Given the description of an element on the screen output the (x, y) to click on. 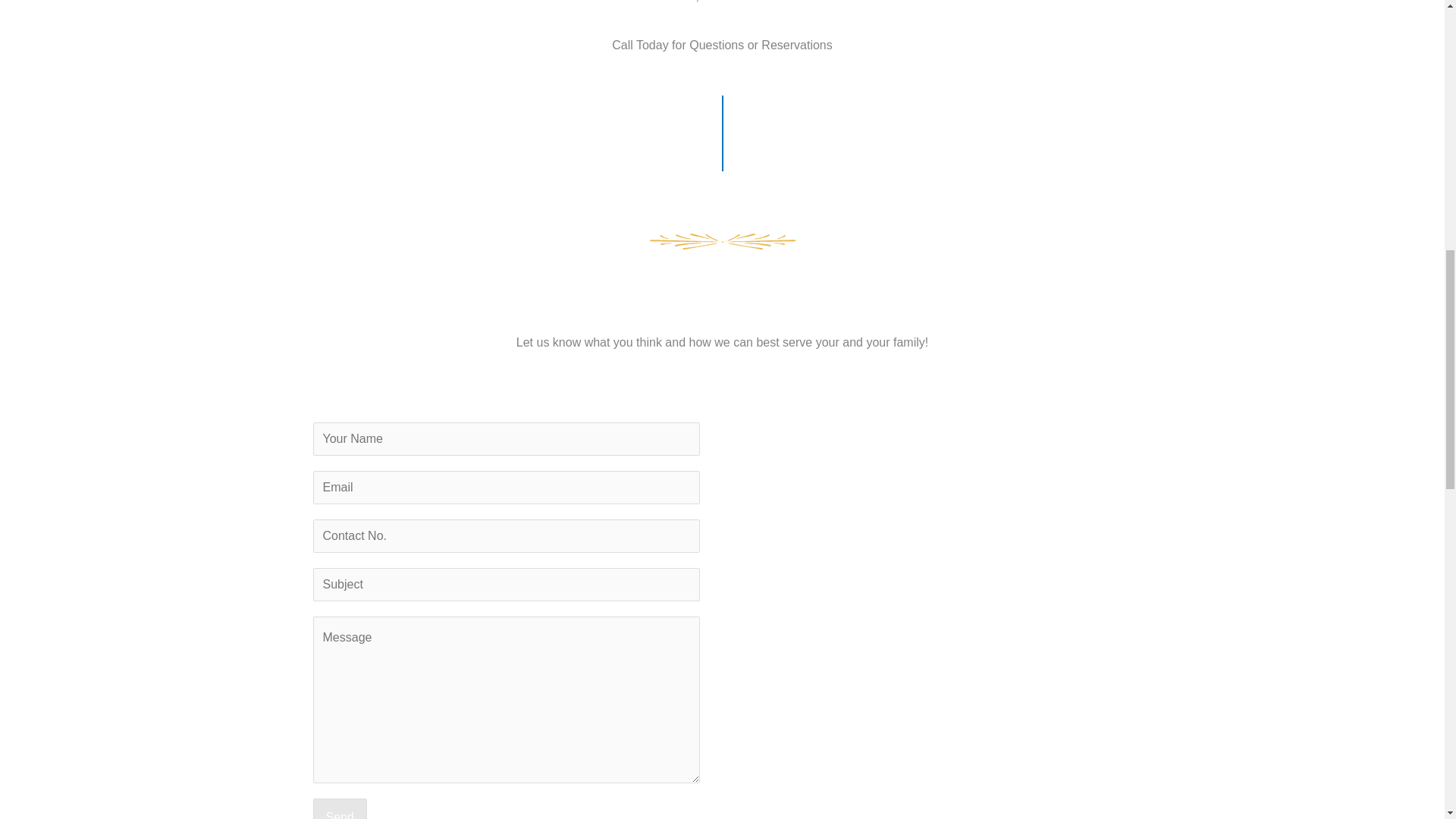
Send (339, 808)
